Given the description of an element on the screen output the (x, y) to click on. 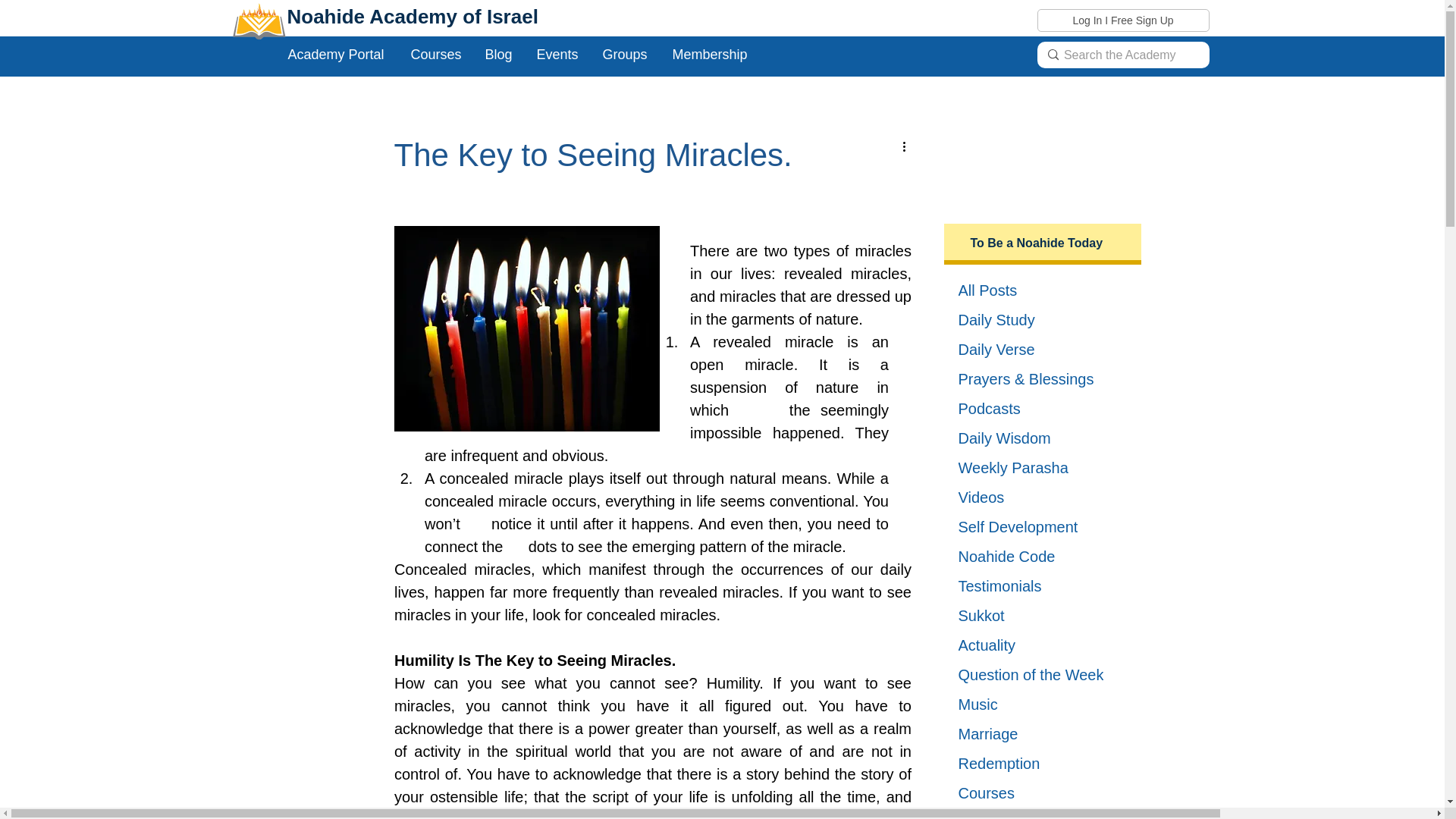
Groups (626, 54)
Events (557, 54)
Noahide  (327, 15)
Courses (435, 54)
Academy Portal (337, 54)
Membership (711, 54)
Log In I Free Sign Up (1122, 20)
Blog (498, 54)
Academy of Israel (453, 15)
